Given the description of an element on the screen output the (x, y) to click on. 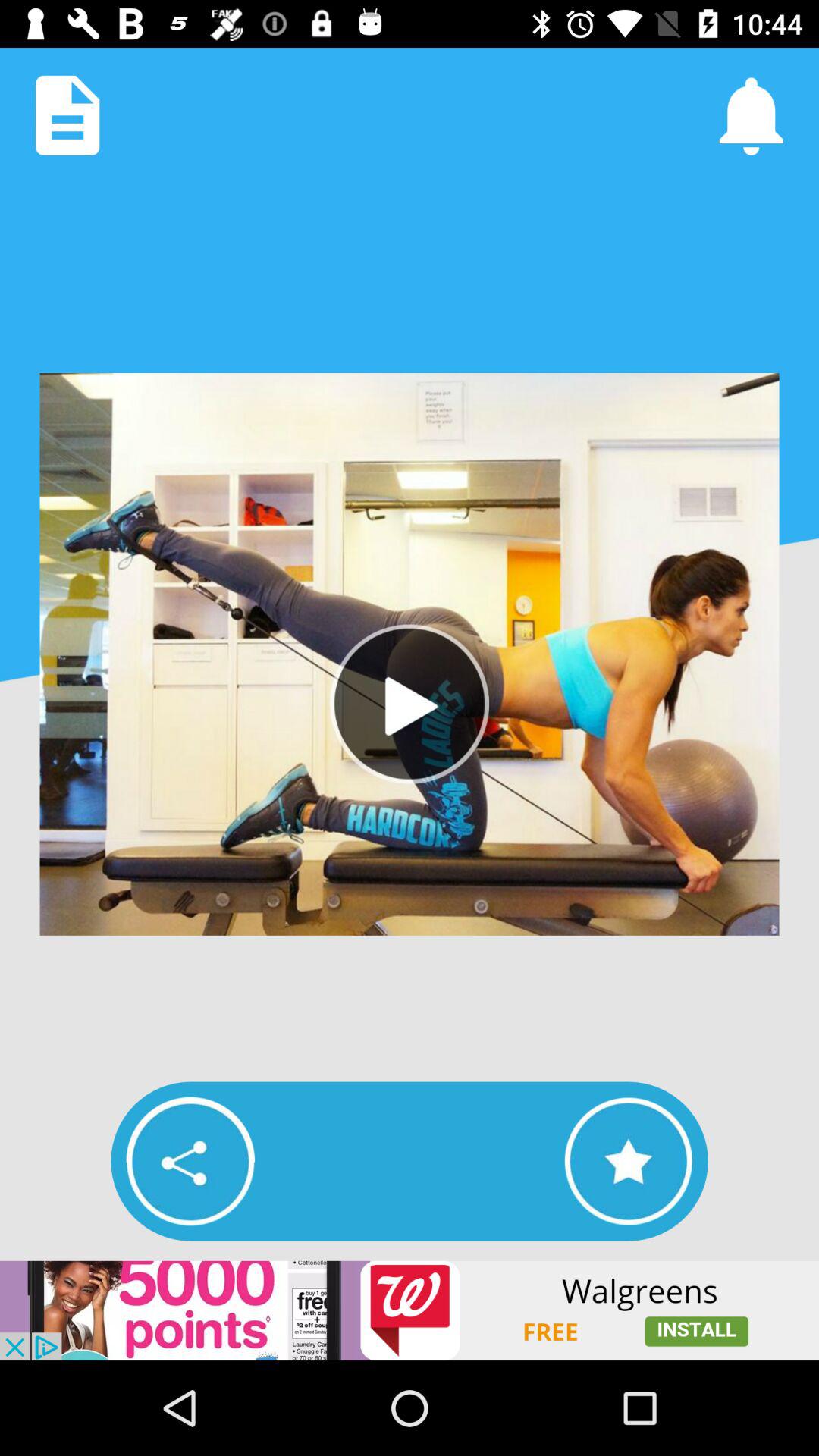
play the video (409, 703)
